Given the description of an element on the screen output the (x, y) to click on. 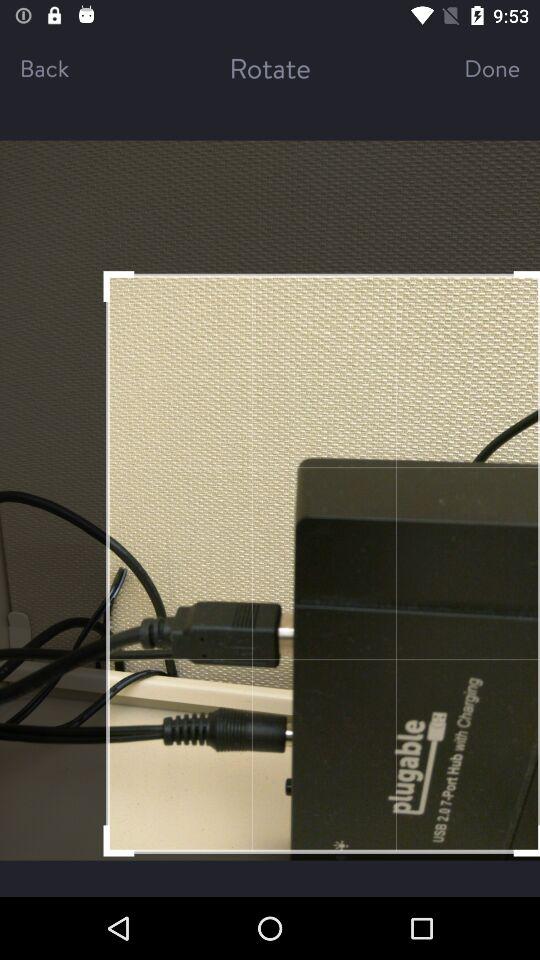
press the rotate (269, 67)
